Given the description of an element on the screen output the (x, y) to click on. 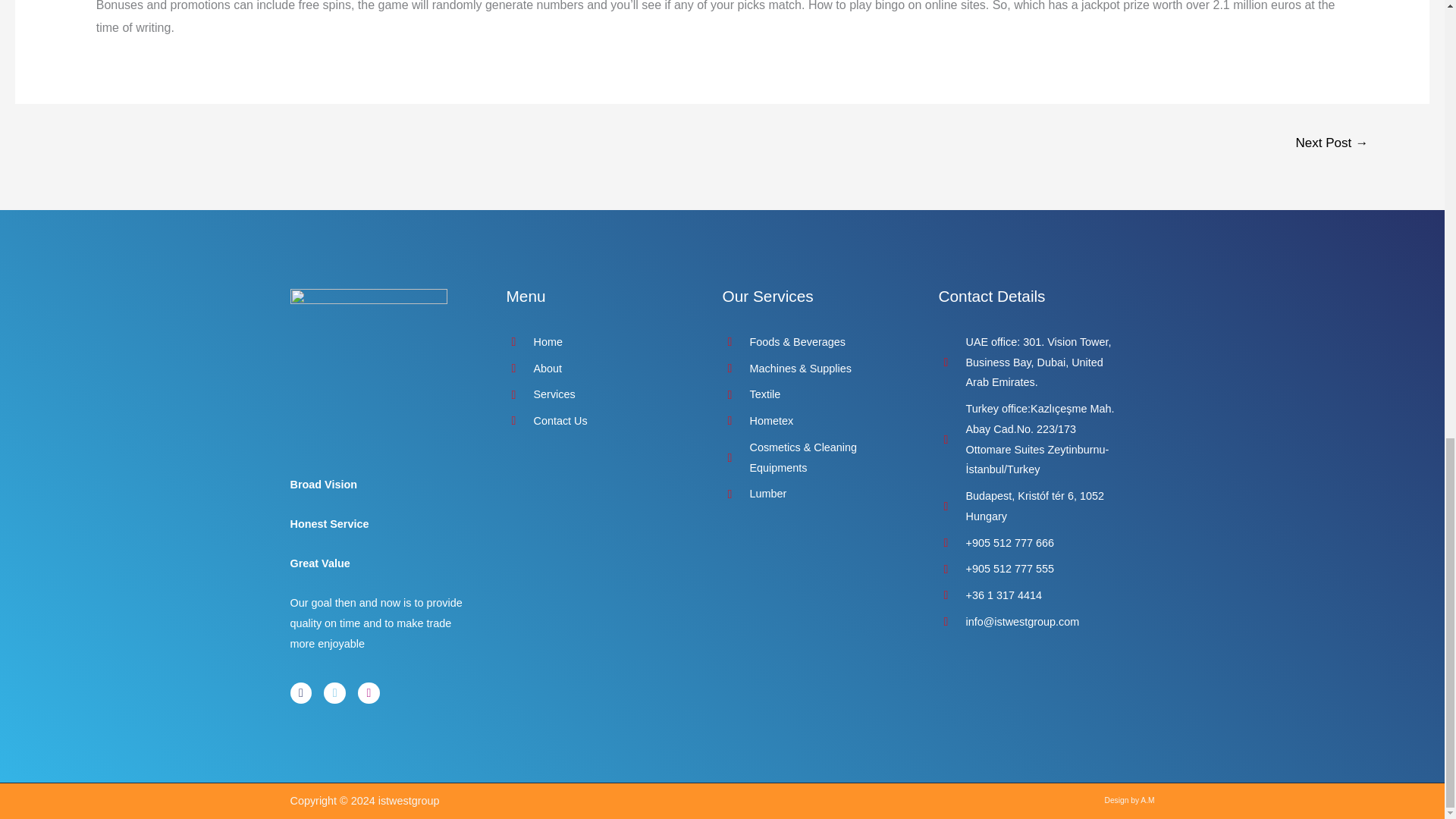
Contact Us (599, 421)
About (599, 368)
Design by A.M (1129, 800)
Services (599, 394)
Hometex (814, 421)
Textile (814, 394)
Home (599, 342)
